Given the description of an element on the screen output the (x, y) to click on. 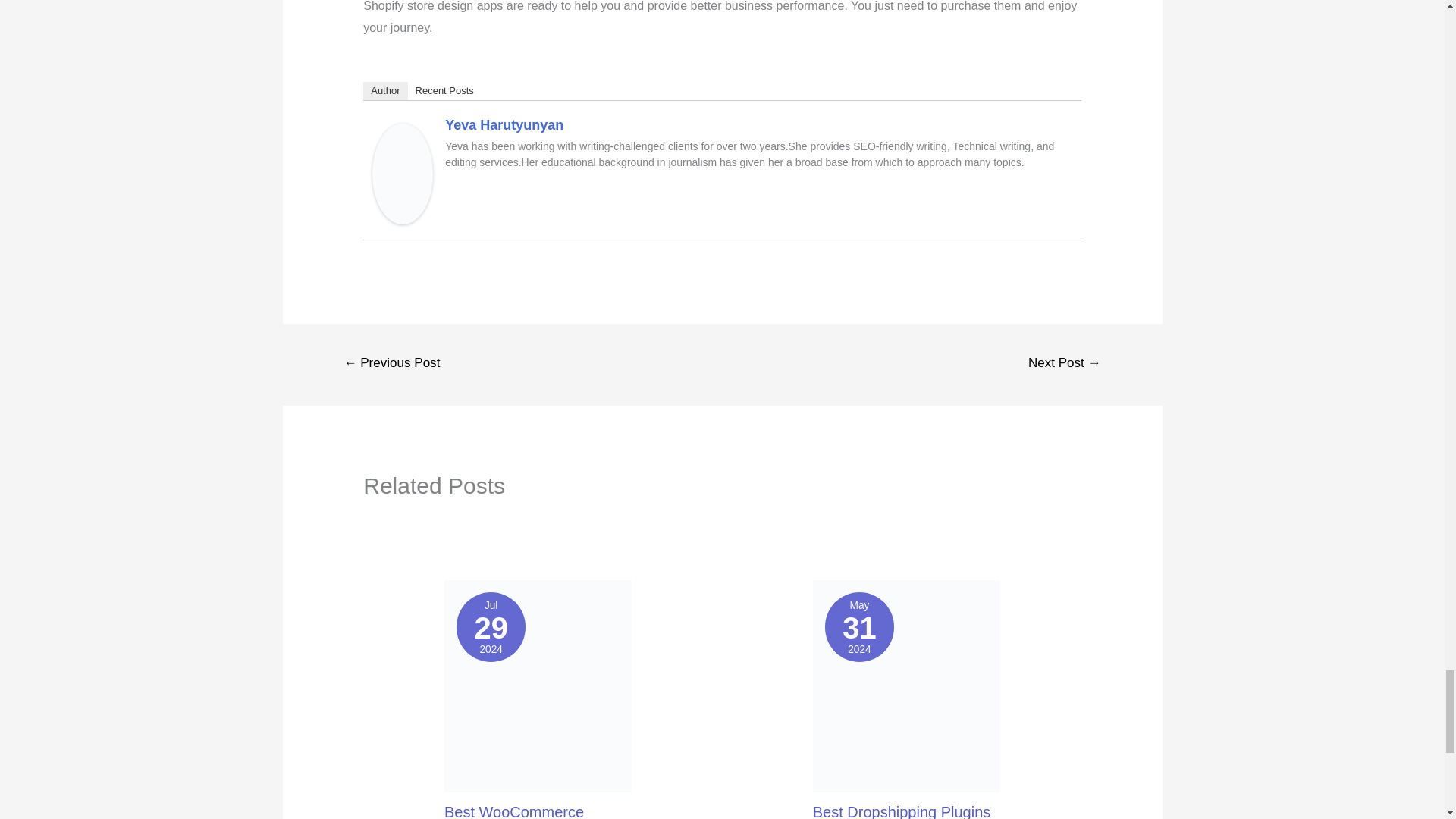
Yeva Harutyunyan (402, 173)
